Given the description of an element on the screen output the (x, y) to click on. 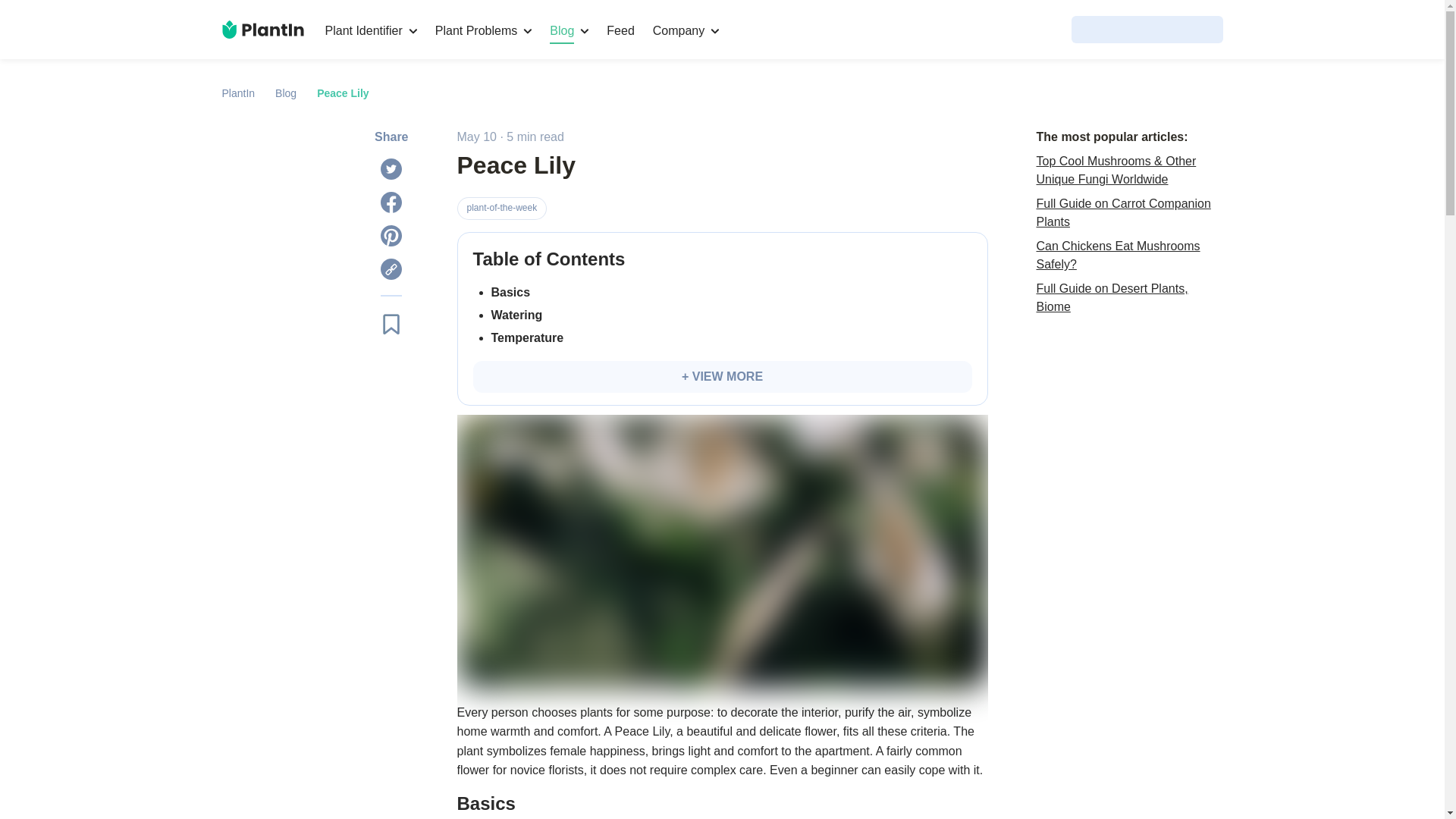
Company (685, 31)
PlantIn (237, 93)
Blog (568, 31)
Peace Lily (343, 93)
Facebook (390, 201)
Plant Identifier (370, 31)
Feed (619, 31)
Blog (286, 93)
Pinterest (390, 235)
Twitter (390, 168)
Plant Problems (483, 31)
Copy to clipboard (390, 269)
Save to favourite (390, 323)
Home (261, 29)
